Given the description of an element on the screen output the (x, y) to click on. 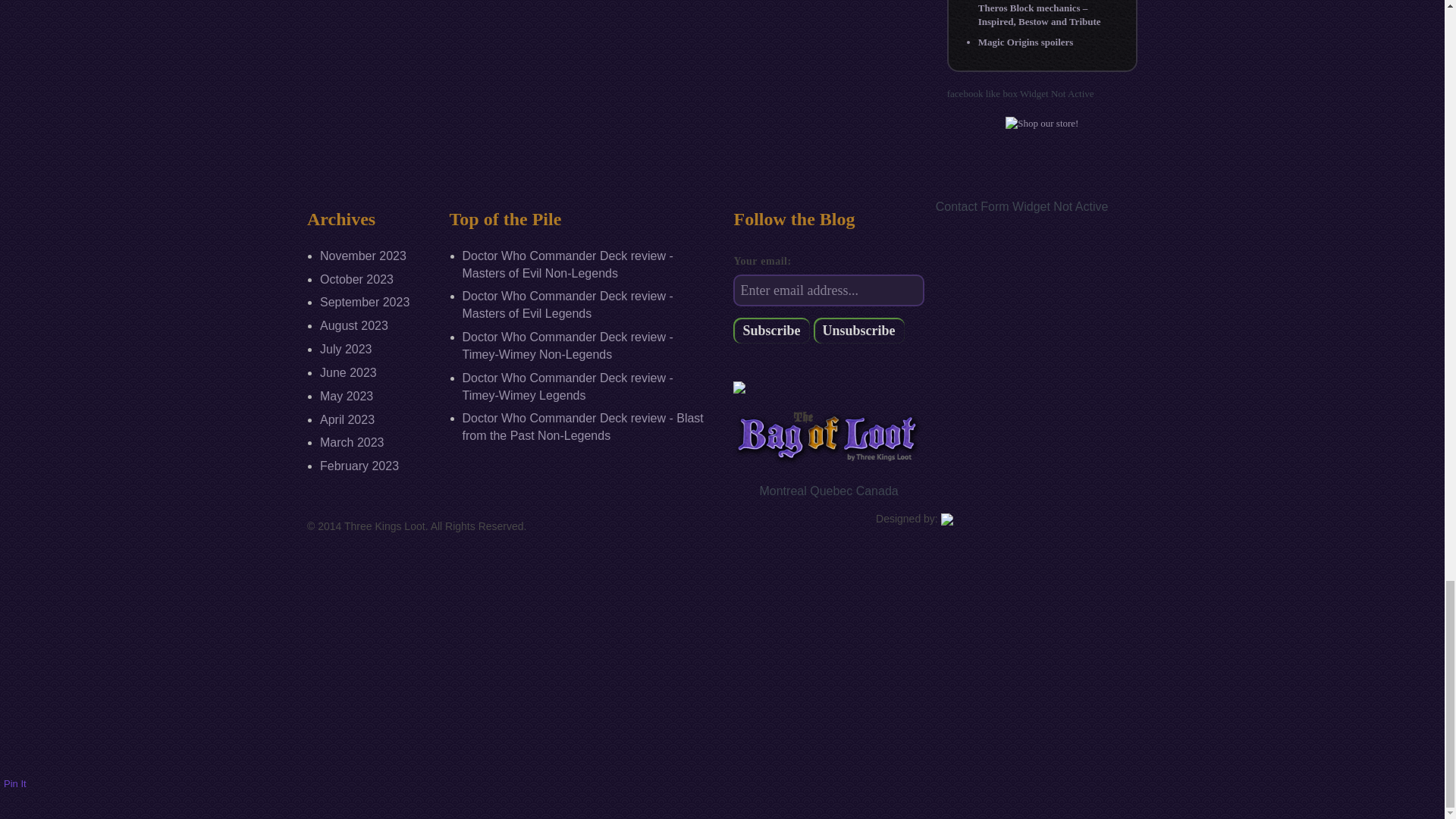
Enter email address... (828, 290)
Unsubscribe (858, 330)
Subscribe (771, 330)
